Given the description of an element on the screen output the (x, y) to click on. 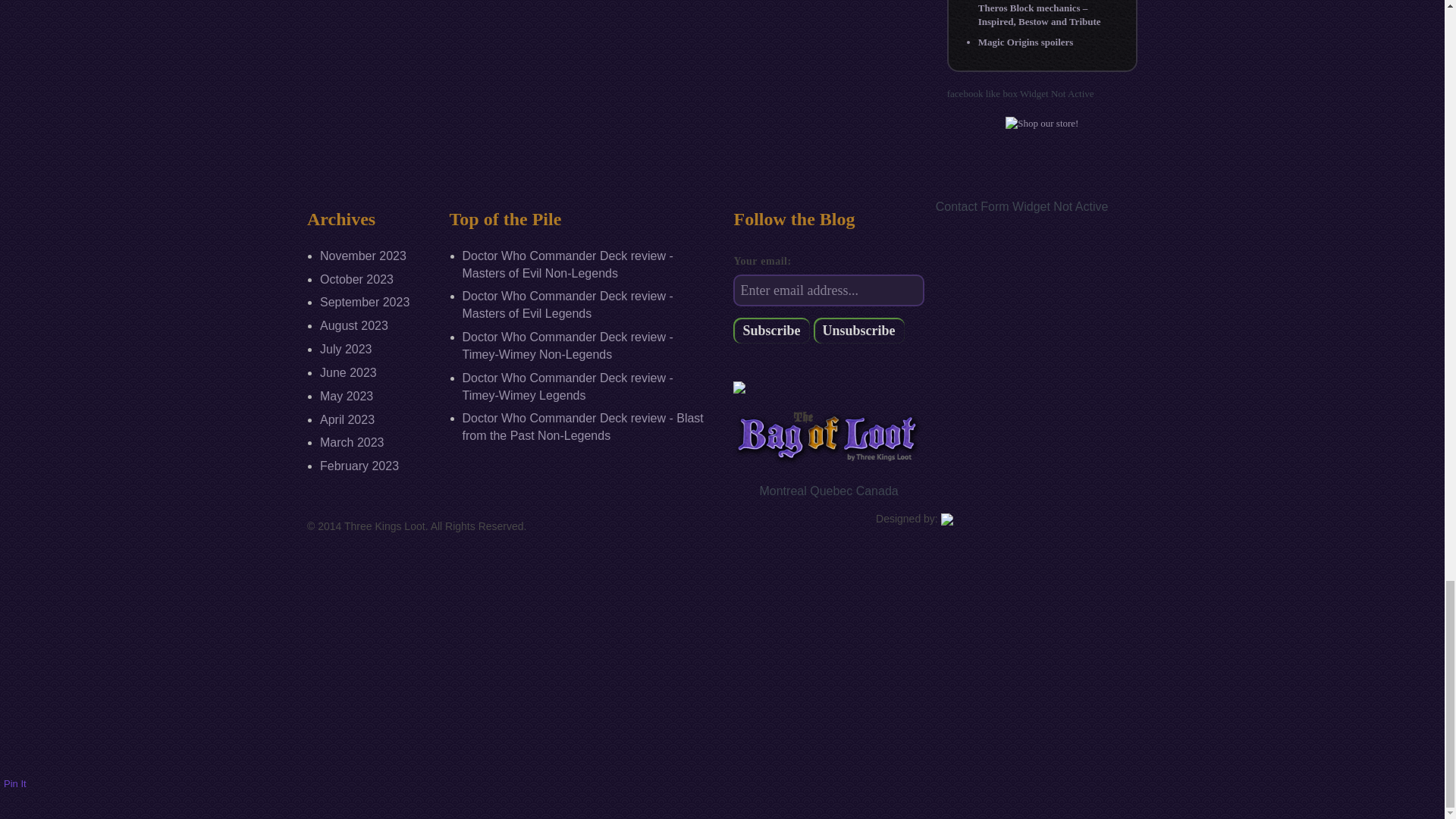
Enter email address... (828, 290)
Unsubscribe (858, 330)
Subscribe (771, 330)
